Given the description of an element on the screen output the (x, y) to click on. 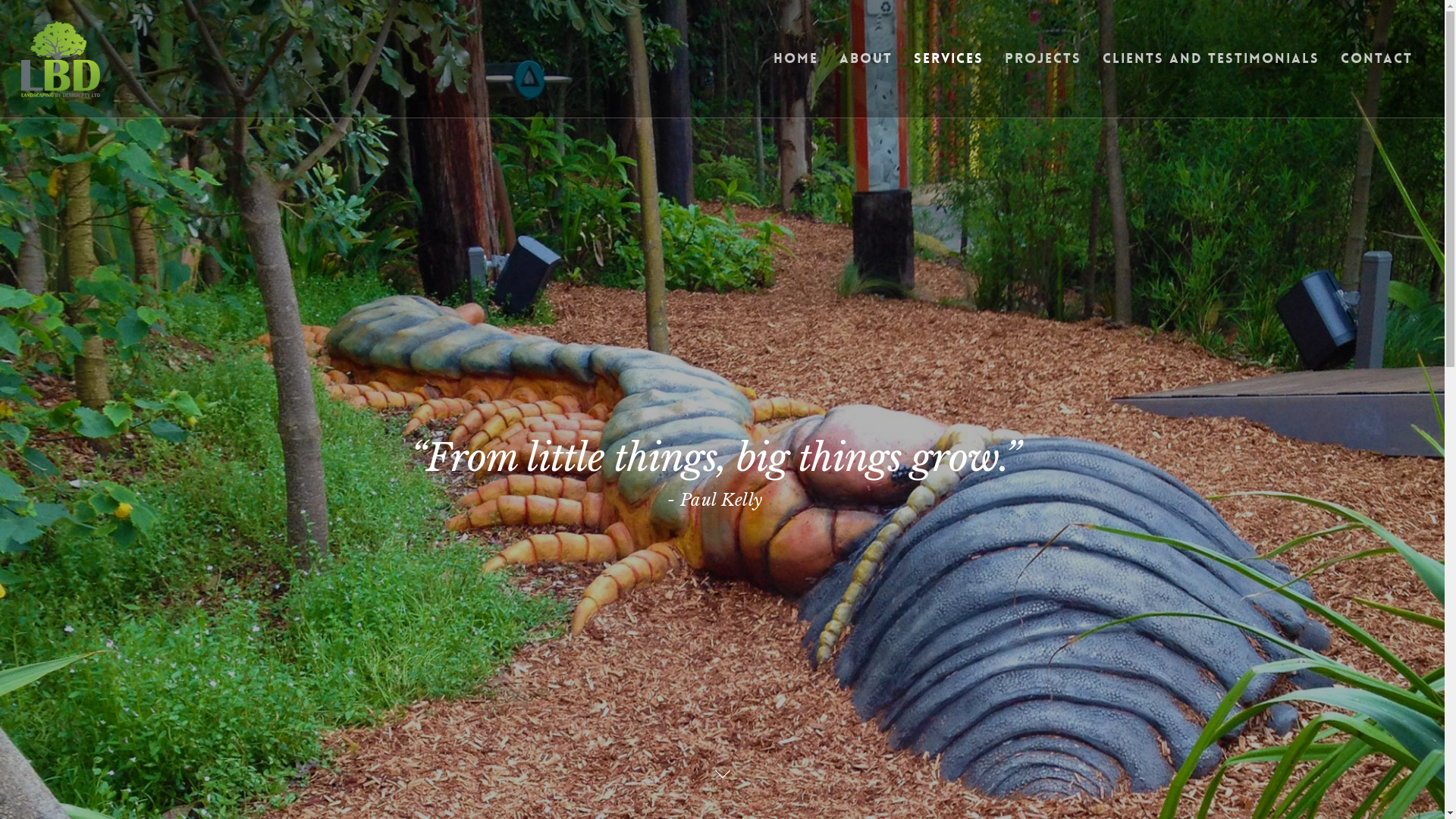
Services Element type: text (948, 69)
Clients and Testimonials Element type: text (1210, 69)
About Element type: text (865, 69)
Contact Element type: text (1376, 69)
Home Element type: text (795, 69)
Projects Element type: text (1042, 69)
